Given the description of an element on the screen output the (x, y) to click on. 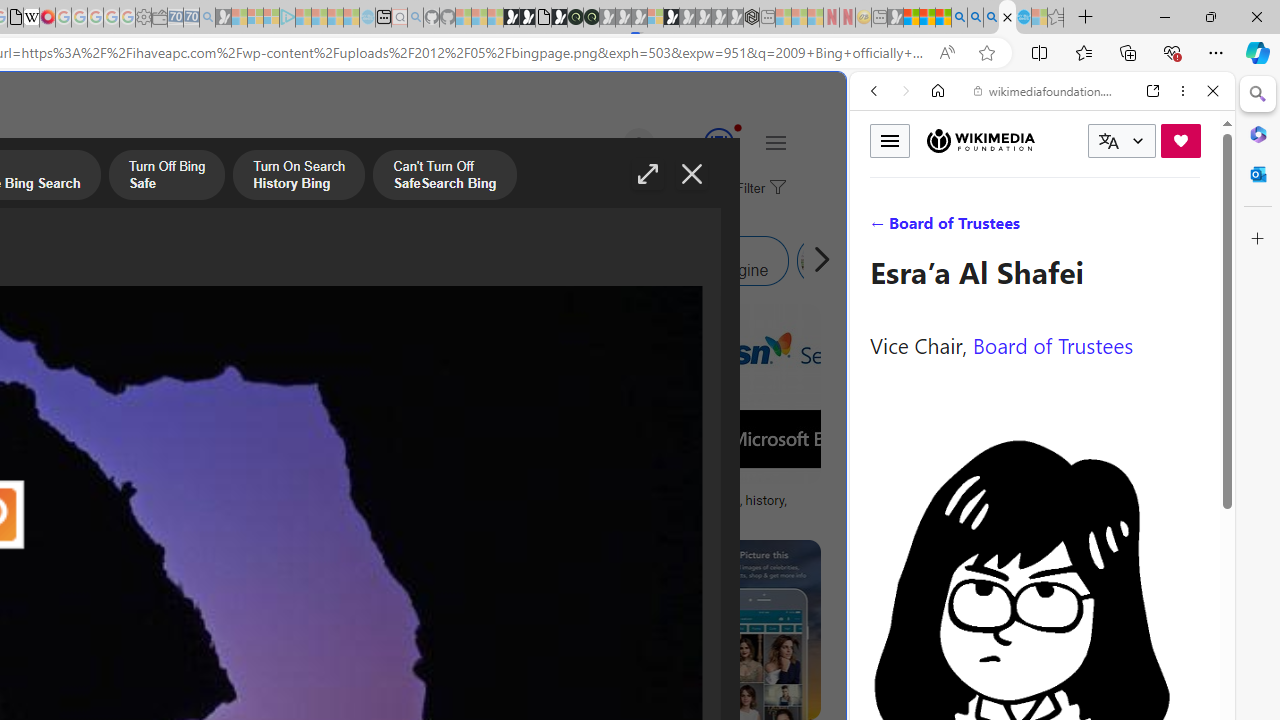
Favorites - Sleeping (1055, 17)
Toggle menu (890, 140)
MSN - Sleeping (895, 17)
Search Filter, VIDEOS (1006, 228)
